Given the description of an element on the screen output the (x, y) to click on. 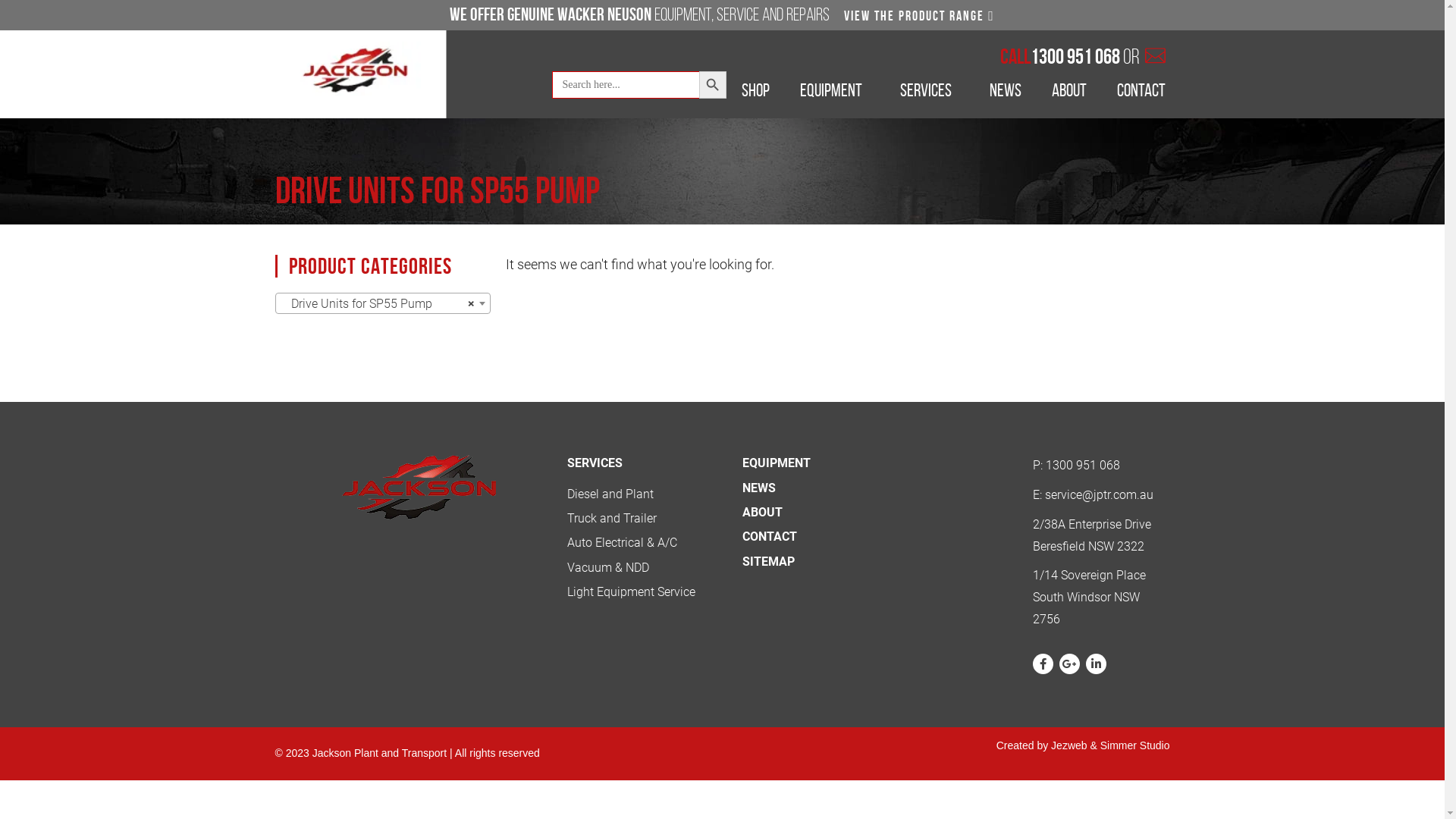
NEWS Element type: text (758, 487)
1/14 Sovereign Place South Windsor NSW 2756 Element type: text (1094, 597)
SHOP Element type: text (755, 93)
Jezweb Element type: text (1068, 745)
Auto Electrical & A/C Element type: text (622, 542)
CONTACT Element type: text (769, 536)
SERVICES Element type: text (929, 93)
Diesel and Plant Element type: text (610, 493)
Truck and Trailer Element type: text (611, 518)
CONTACT Element type: text (1141, 93)
SEARCH BUTTON Element type: text (712, 84)
view the product range Element type: text (919, 15)
1300 951 068 Element type: text (1075, 56)
NEWS Element type: text (1005, 93)
Simmer Studio Element type: text (1135, 745)
Light Equipment Service Element type: text (631, 591)
P: 1300 951 068 Element type: text (1094, 465)
ABOUT Element type: text (1068, 93)
SERVICES Element type: text (594, 462)
E: service@jptr.com.au Element type: text (1094, 495)
SITEMAP Element type: text (768, 561)
EQUIPMENT Element type: text (834, 93)
Vacuum & NDD Element type: text (608, 567)
ABOUT Element type: text (762, 512)
EQUIPMENT Element type: text (776, 462)
2/38A Enterprise Drive Beresfield NSW 2322  Element type: text (1094, 536)
